Given the description of an element on the screen output the (x, y) to click on. 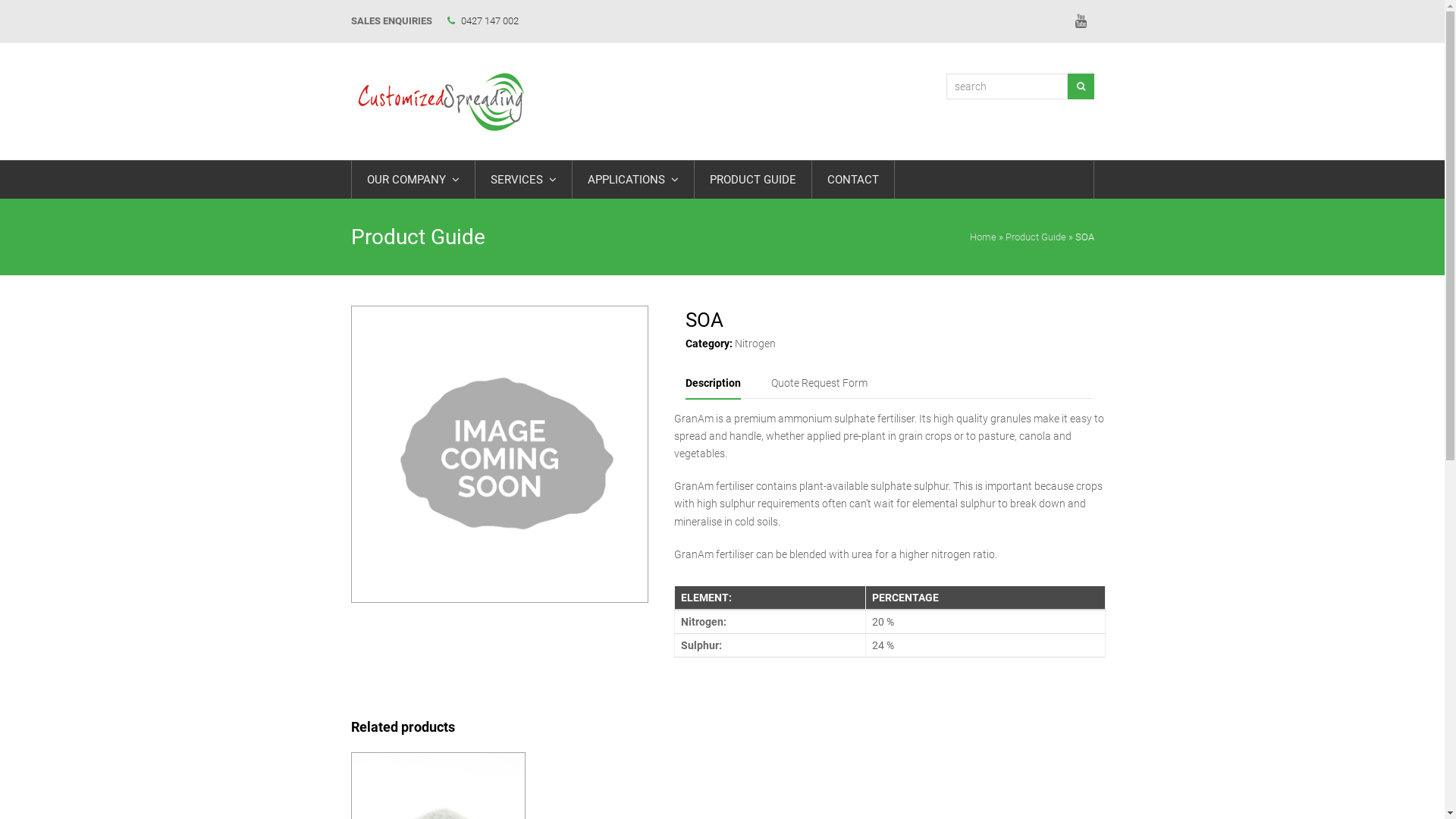
image-coming-soon Element type: hover (498, 453)
APPLICATIONS Element type: text (632, 179)
Youtube Element type: text (1080, 21)
Product Guide Element type: text (1035, 236)
Home Element type: text (982, 236)
Quote Request Form Element type: text (818, 382)
Description Element type: text (712, 383)
Nitrogen Element type: text (754, 343)
OUR COMPANY Element type: text (412, 179)
SERVICES Element type: text (522, 179)
CONTACT Element type: text (852, 179)
Search Element type: text (1080, 86)
PRODUCT GUIDE Element type: text (752, 179)
